Given the description of an element on the screen output the (x, y) to click on. 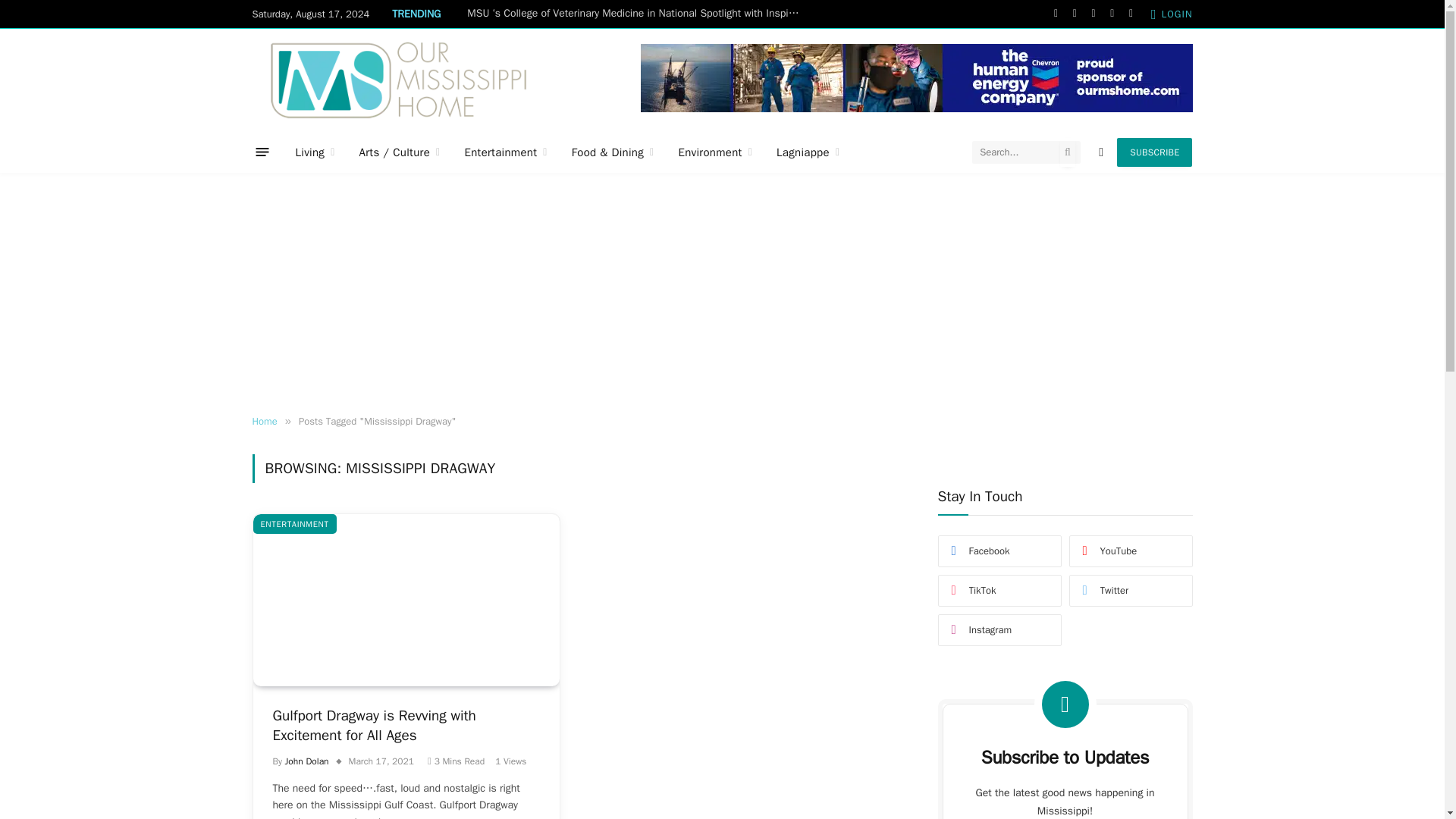
Our Mississippi Home (397, 79)
Living (315, 151)
LOGIN (1171, 13)
